Given the description of an element on the screen output the (x, y) to click on. 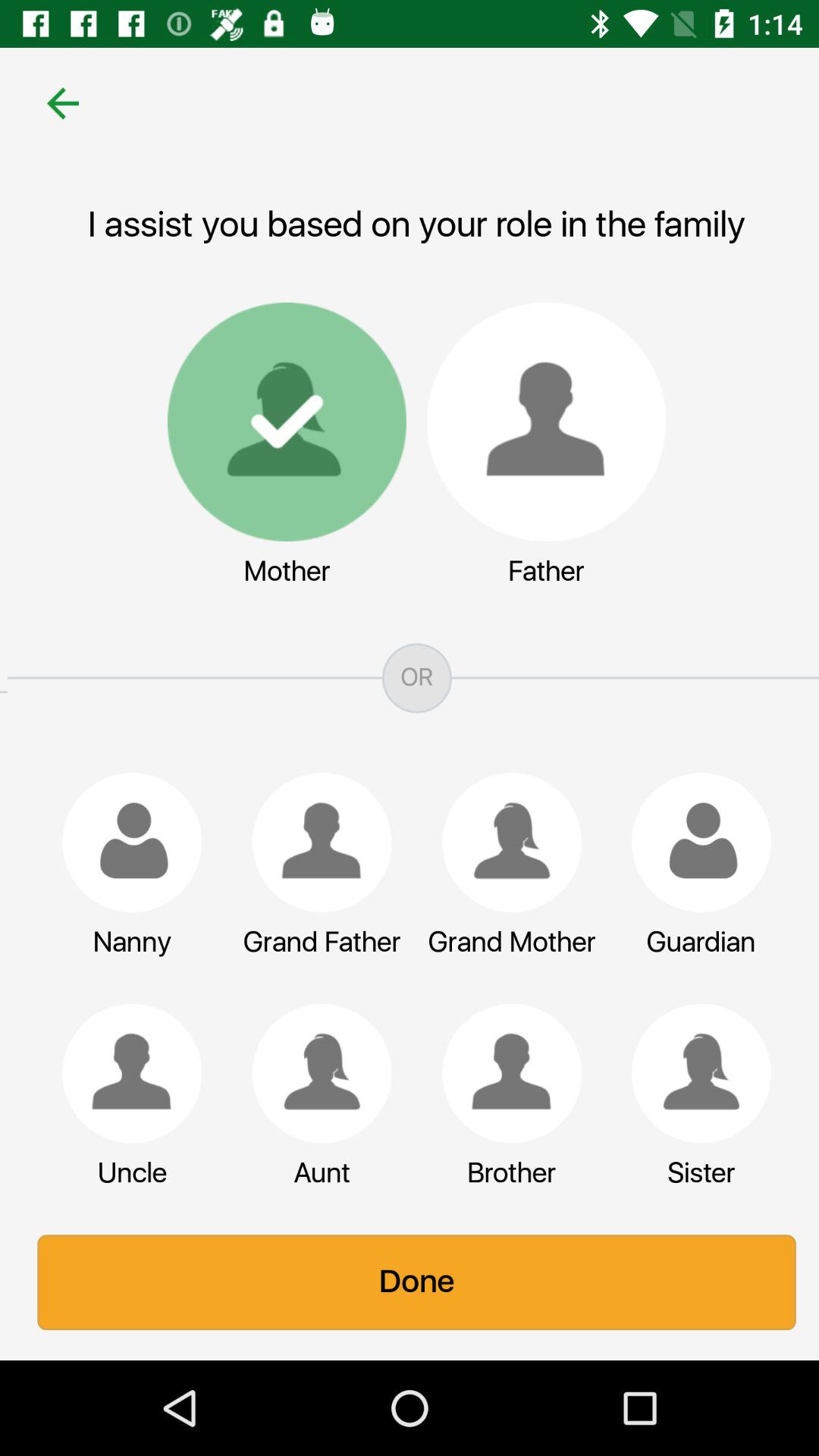
select role (504, 842)
